Given the description of an element on the screen output the (x, y) to click on. 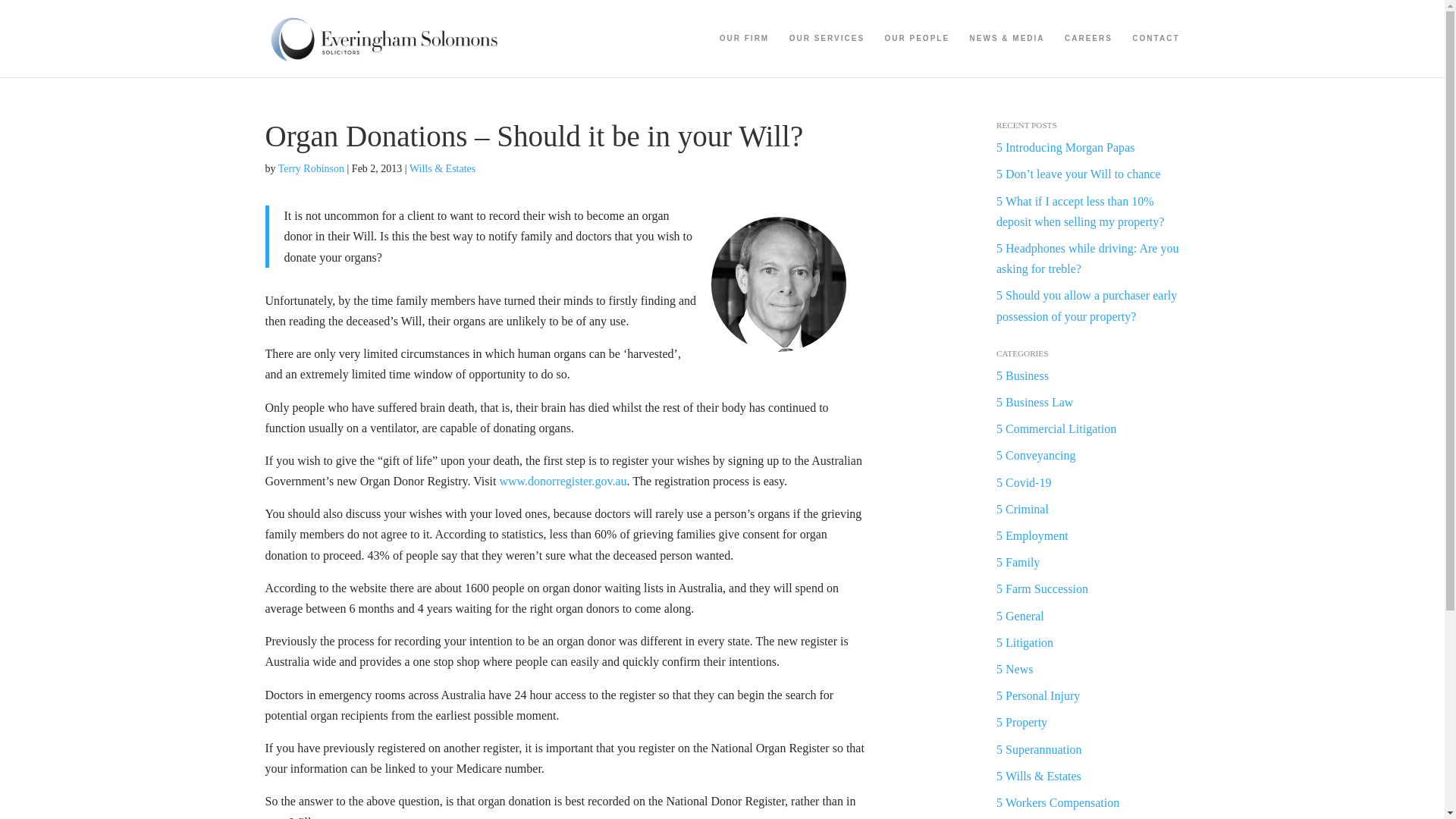
OUR PEOPLE (917, 54)
OUR SERVICES (826, 54)
Introducing Morgan Papas (1070, 146)
CONTACT (1155, 54)
Terry Robinson (310, 168)
www.donorregister.gov.au (562, 481)
CAREERS (1088, 54)
Posts by Terry Robinson (310, 168)
OUR FIRM (743, 54)
